Given the description of an element on the screen output the (x, y) to click on. 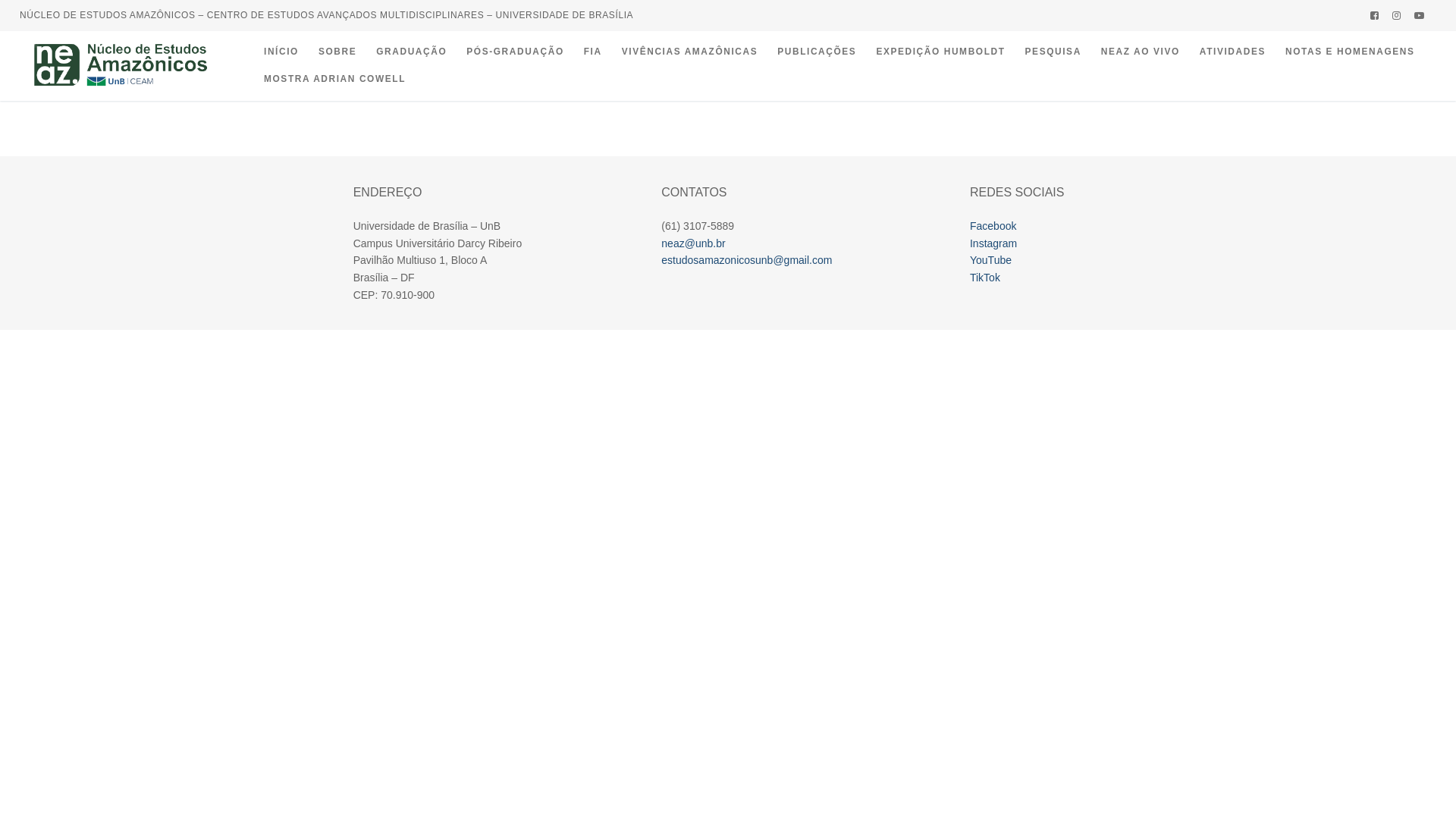
FIA Element type: text (592, 51)
Youtube Element type: hover (1419, 15)
estudosamazonicosunb@gmail.com Element type: text (746, 260)
SOBRE Element type: text (337, 51)
NOTAS E HOMENAGENS Element type: text (1349, 51)
PESQUISA Element type: text (1053, 51)
neaz@unb.br Element type: text (692, 243)
YouTube Element type: text (990, 260)
Instagram Element type: text (992, 243)
Instagram Element type: hover (1396, 15)
NEAZ AO VIVO Element type: text (1140, 51)
MOSTRA ADRIAN COWELL Element type: text (334, 79)
Facebook Element type: hover (1374, 15)
TikTok Element type: text (984, 277)
ATIVIDADES Element type: text (1232, 51)
Facebook Element type: text (992, 225)
